Given the description of an element on the screen output the (x, y) to click on. 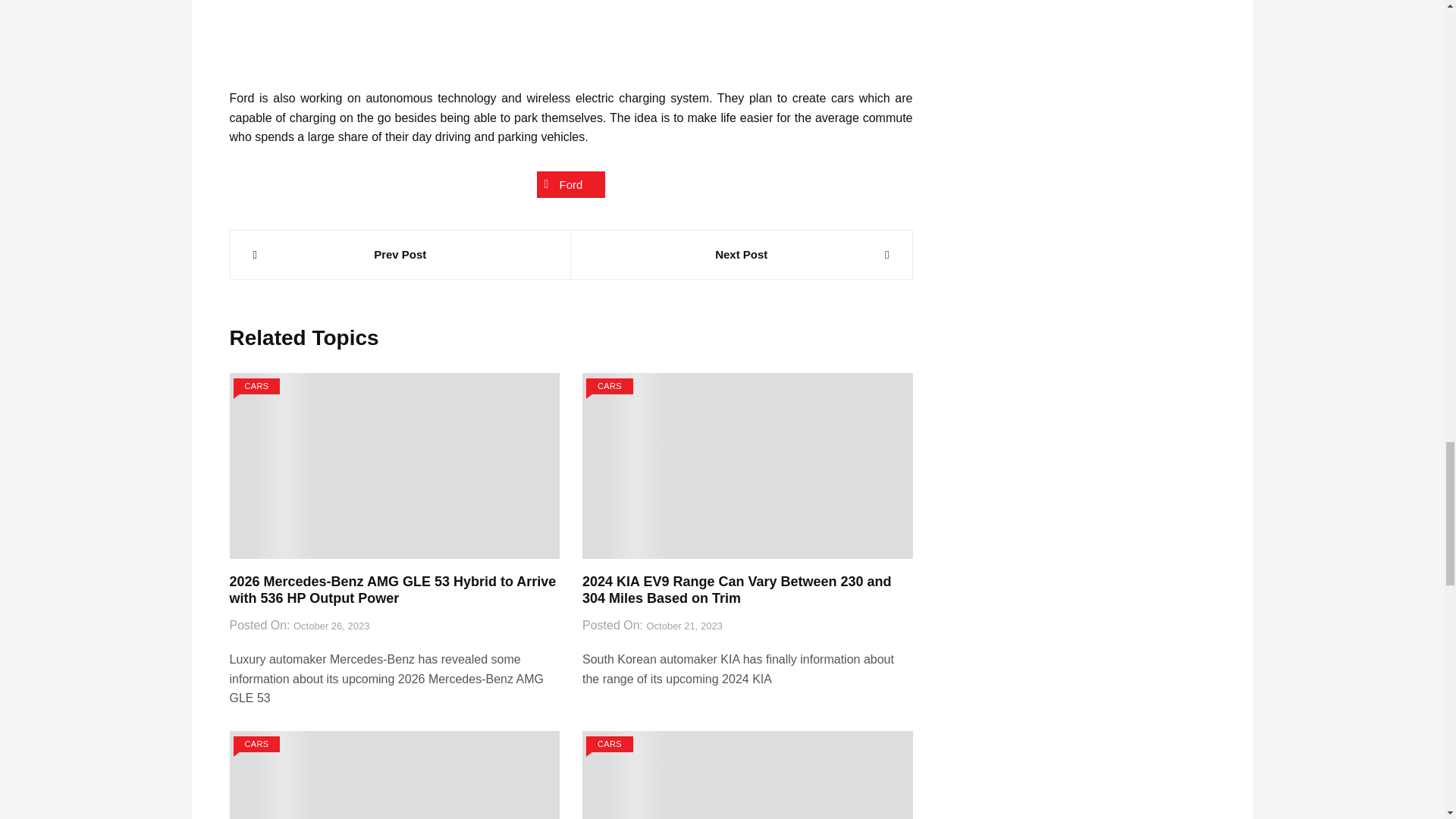
Prev Post (400, 254)
CARS (609, 385)
CARS (256, 744)
October 21, 2023 (684, 626)
Next Post (741, 254)
October 26, 2023 (331, 626)
CARS (256, 385)
Ford (571, 184)
